Given the description of an element on the screen output the (x, y) to click on. 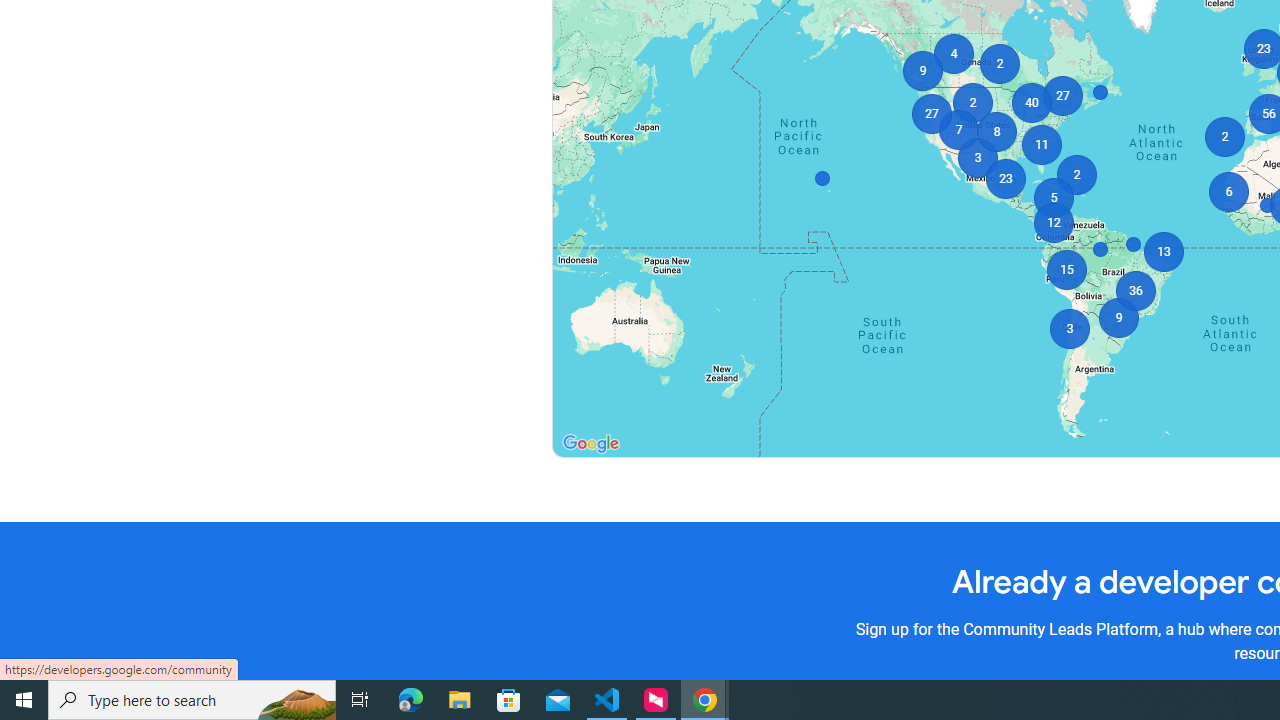
40 (1031, 102)
6 (1228, 191)
11 (1041, 144)
8 (996, 131)
